Given the description of an element on the screen output the (x, y) to click on. 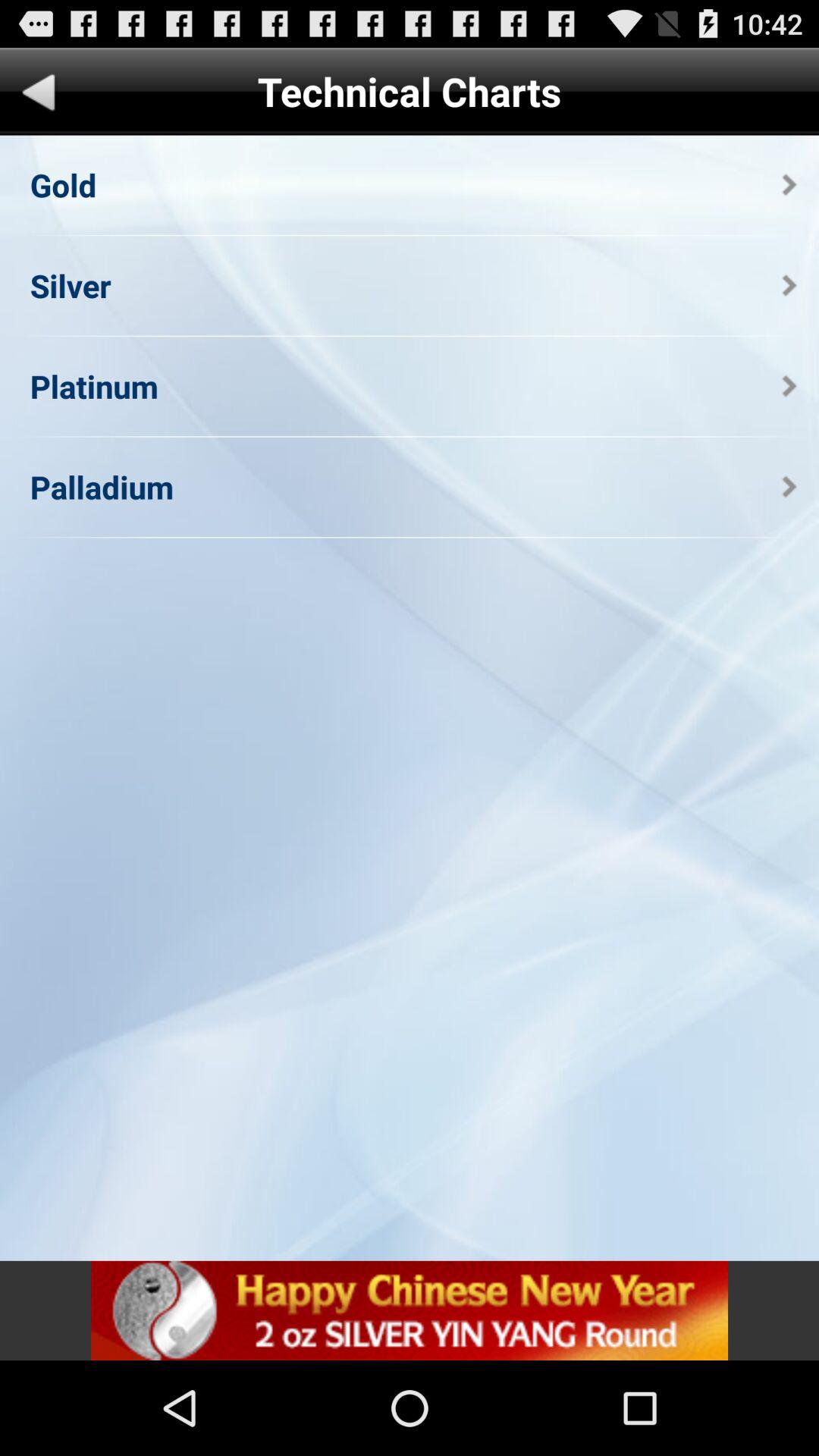
open add (409, 1310)
